Given the description of an element on the screen output the (x, y) to click on. 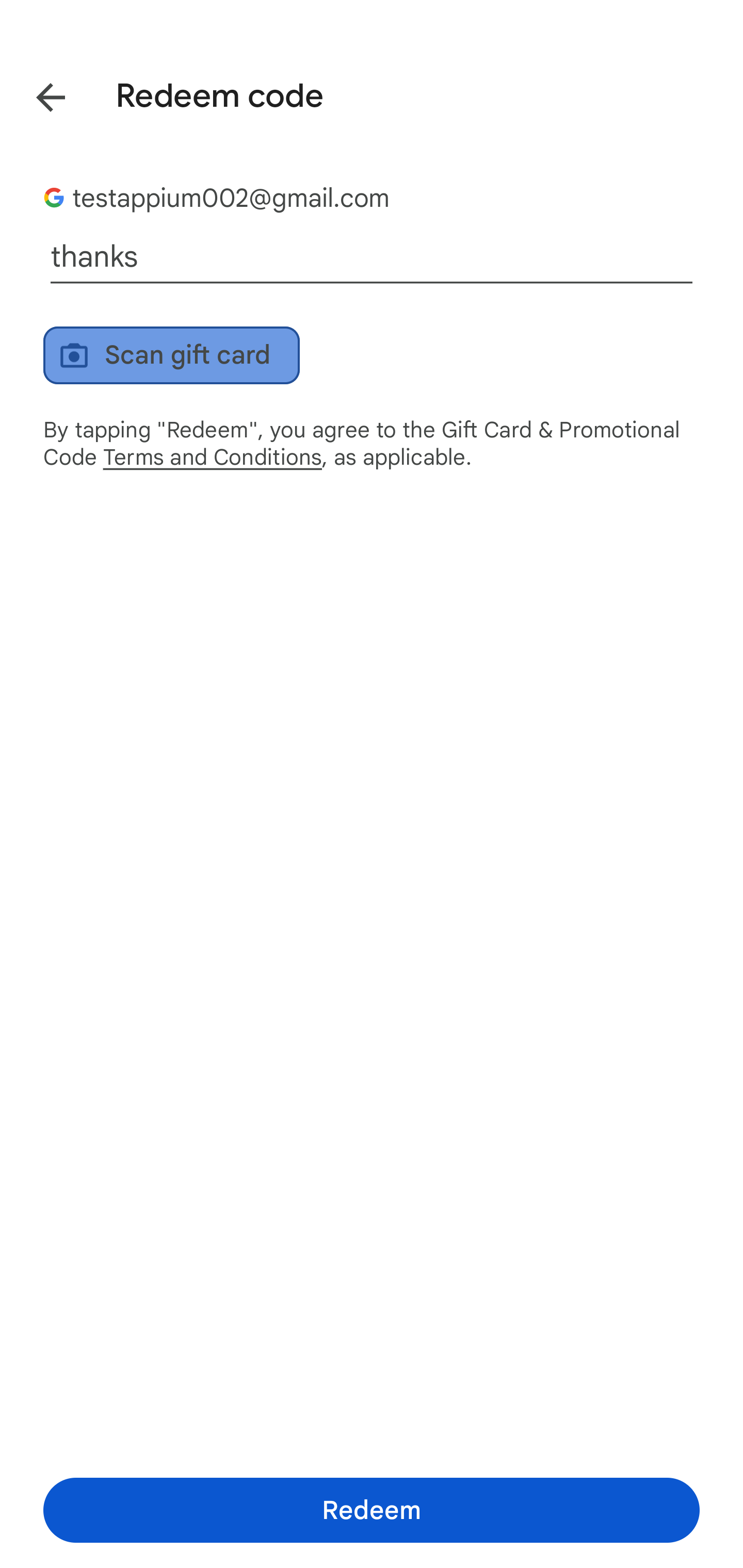
Back (36, 94)
thanks (371, 256)
Scan gift card (171, 355)
Redeem (371, 1509)
